Given the description of an element on the screen output the (x, y) to click on. 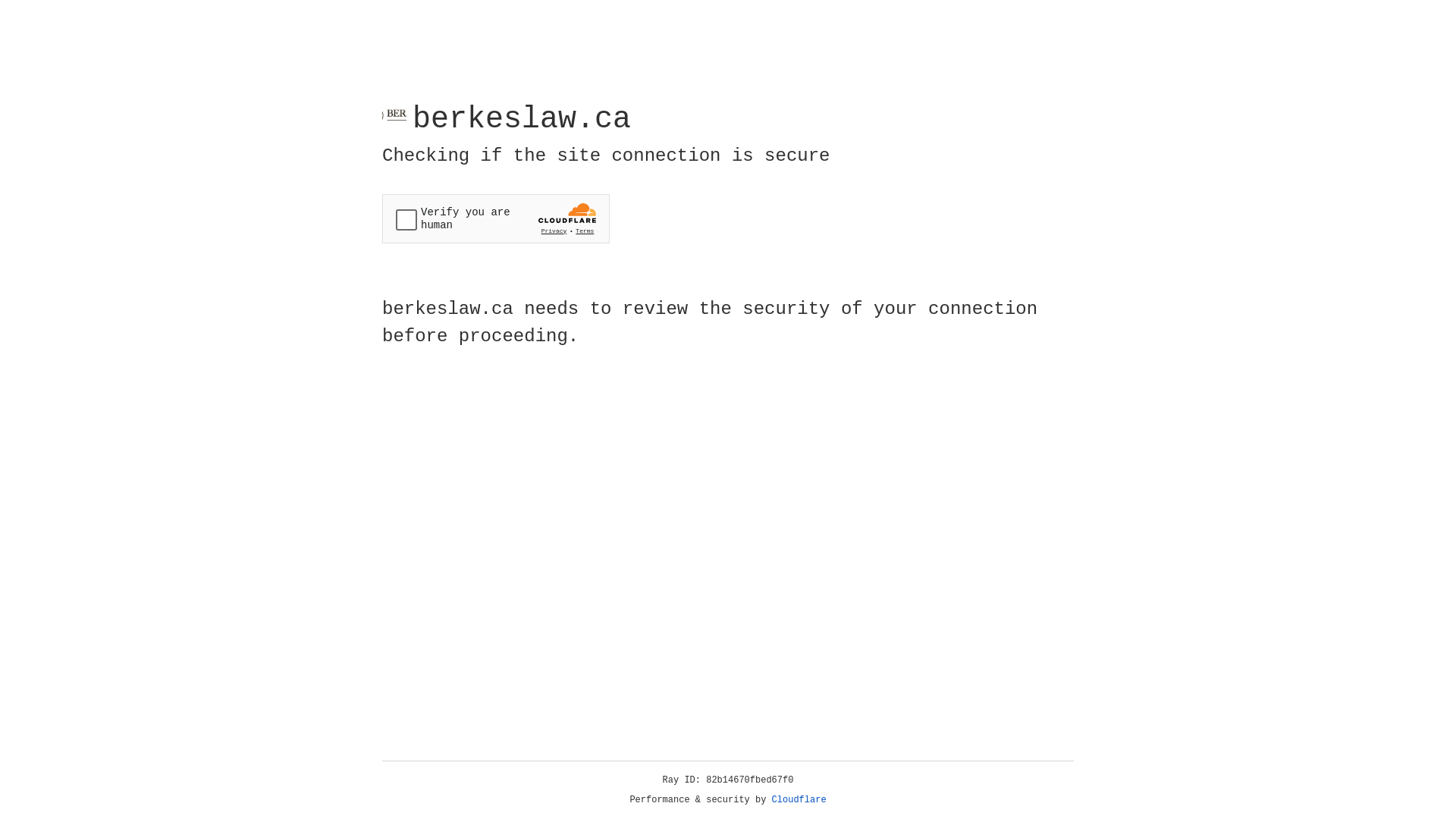
Cloudflare Element type: text (798, 799)
Widget containing a Cloudflare security challenge Element type: hover (495, 218)
